Given the description of an element on the screen output the (x, y) to click on. 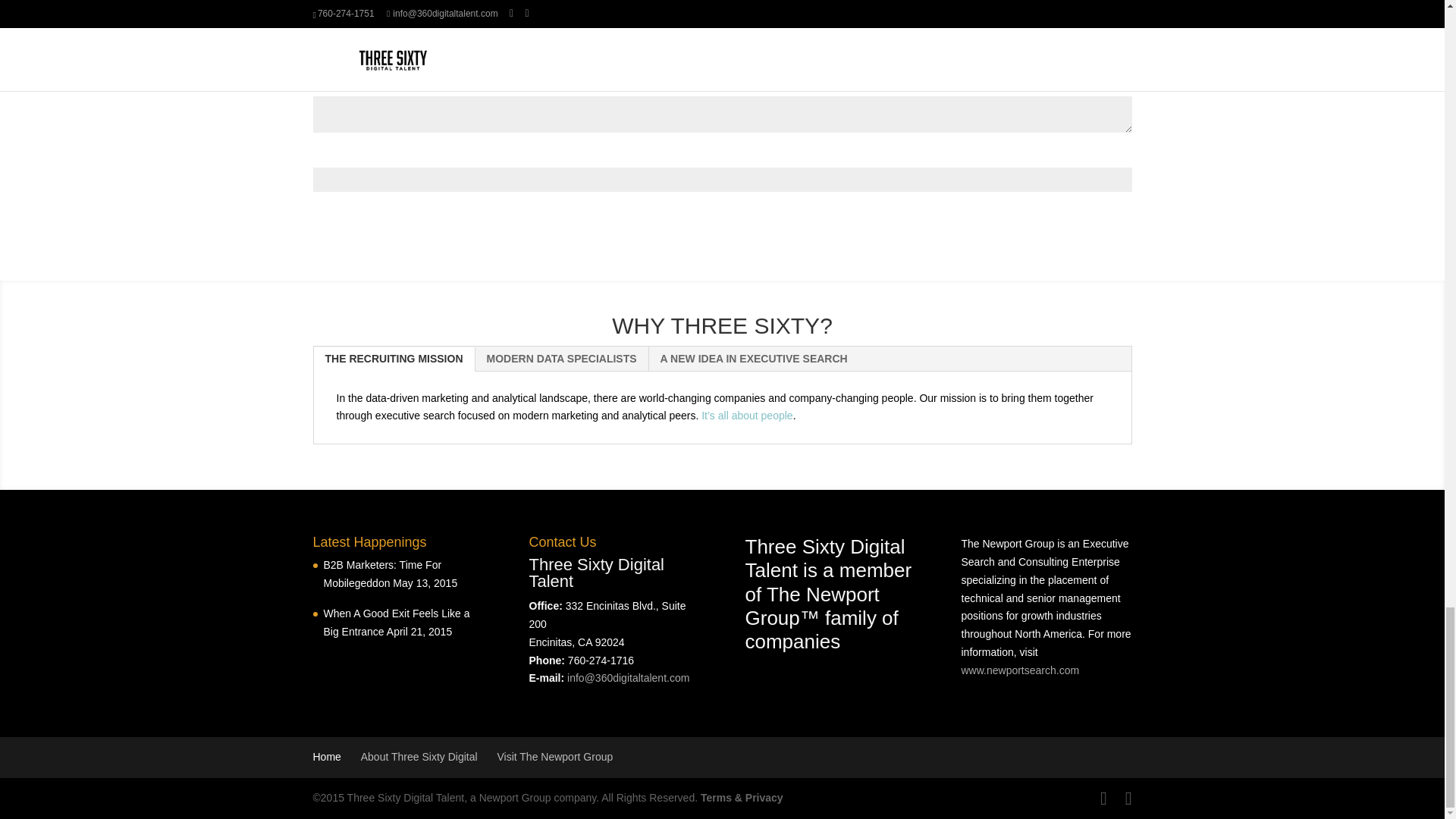
A NEW IDEA IN EXECUTIVE SEARCH (754, 358)
B2B Marketers: Time For Mobilegeddon (382, 573)
www.newportsearch.com (1020, 670)
Talk To Us (363, 227)
Visit The Newport Group (554, 756)
Home (326, 756)
MODERN DATA SPECIALISTS (561, 358)
THE RECRUITING MISSION (393, 358)
When A Good Exit Feels Like a Big Entrance (395, 622)
Talk To Us (363, 227)
About Three Sixty Digital (419, 756)
